Given the description of an element on the screen output the (x, y) to click on. 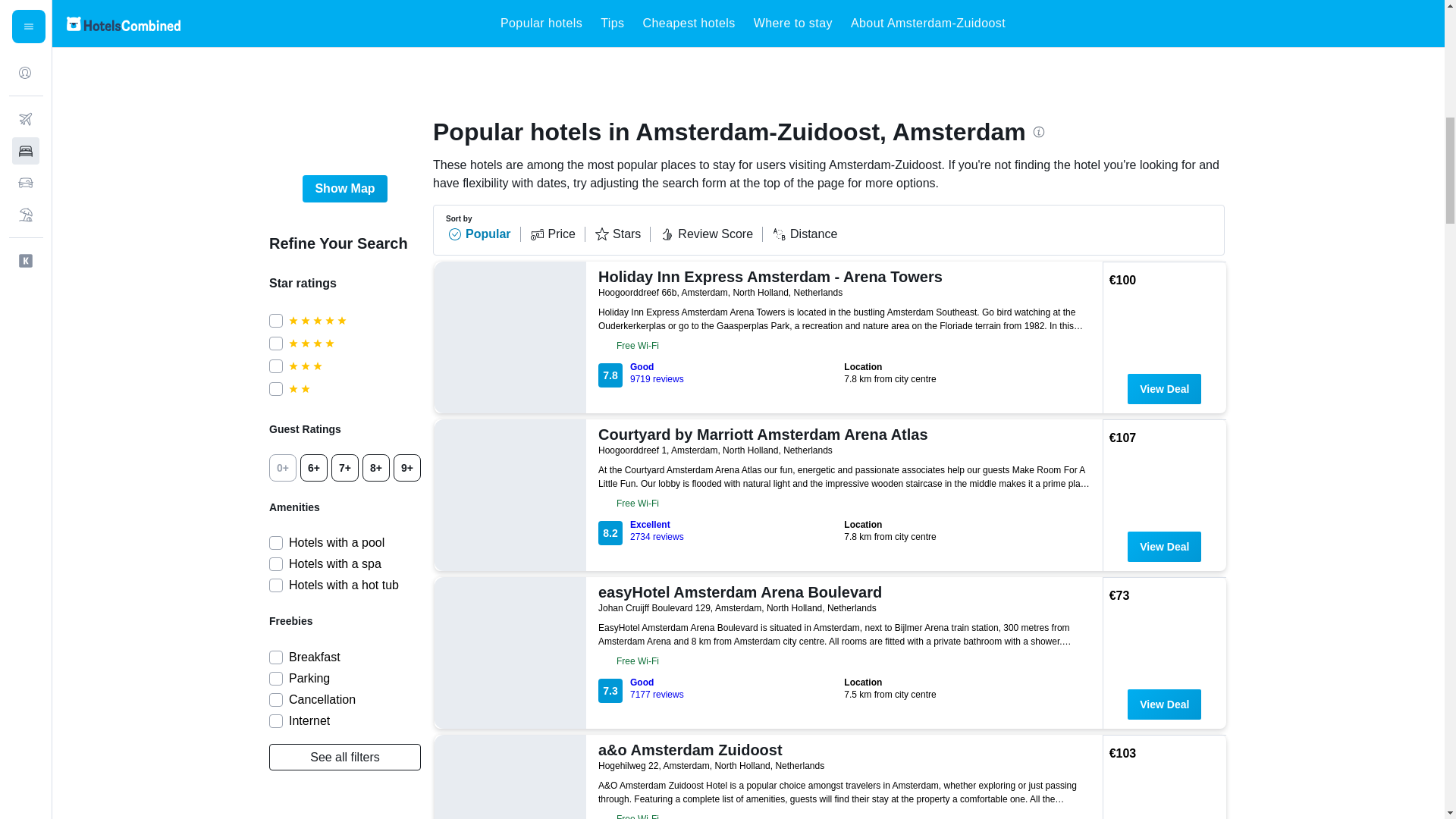
Price (557, 233)
4 stars (354, 343)
3 stars (354, 366)
See all filters (344, 757)
Distance (804, 233)
Amsterdam Hotels (695, 22)
Stars (622, 233)
Netherlands Hotels (442, 22)
Show Map (344, 188)
5 stars (354, 320)
